Given the description of an element on the screen output the (x, y) to click on. 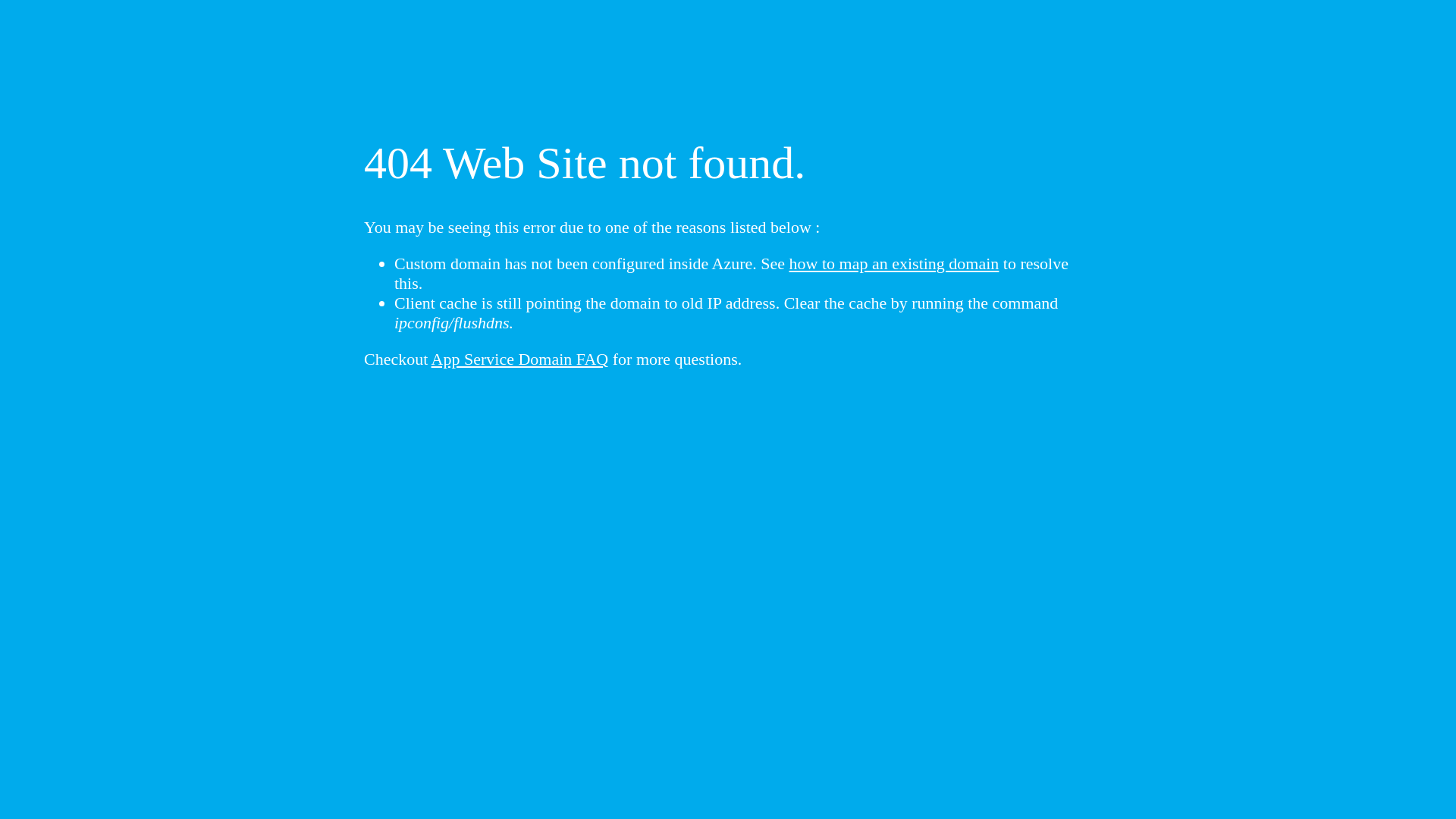
App Service Domain FAQ Element type: text (519, 358)
how to map an existing domain Element type: text (894, 263)
